Given the description of an element on the screen output the (x, y) to click on. 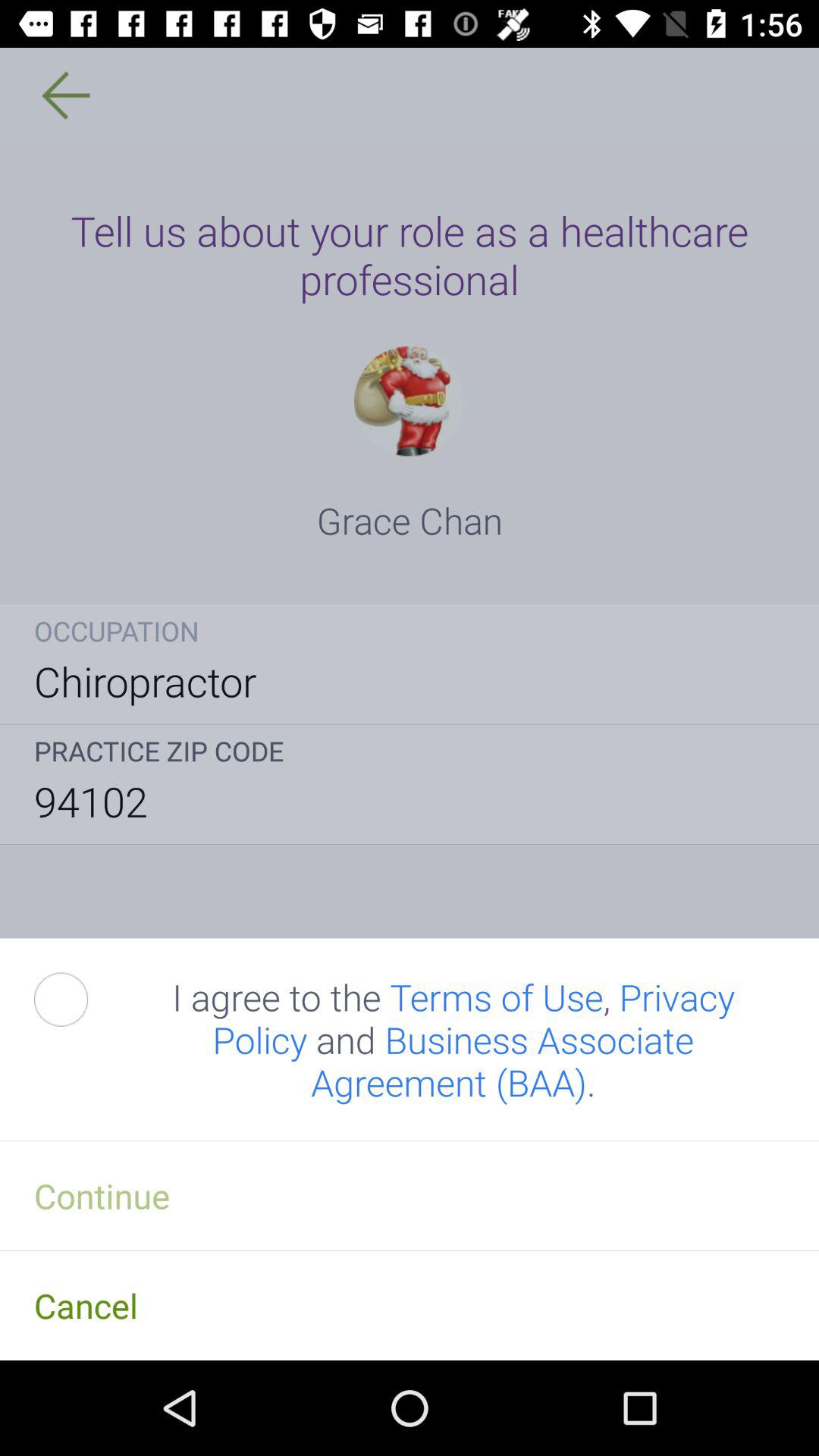
turn off the item at the bottom left corner (78, 999)
